Given the description of an element on the screen output the (x, y) to click on. 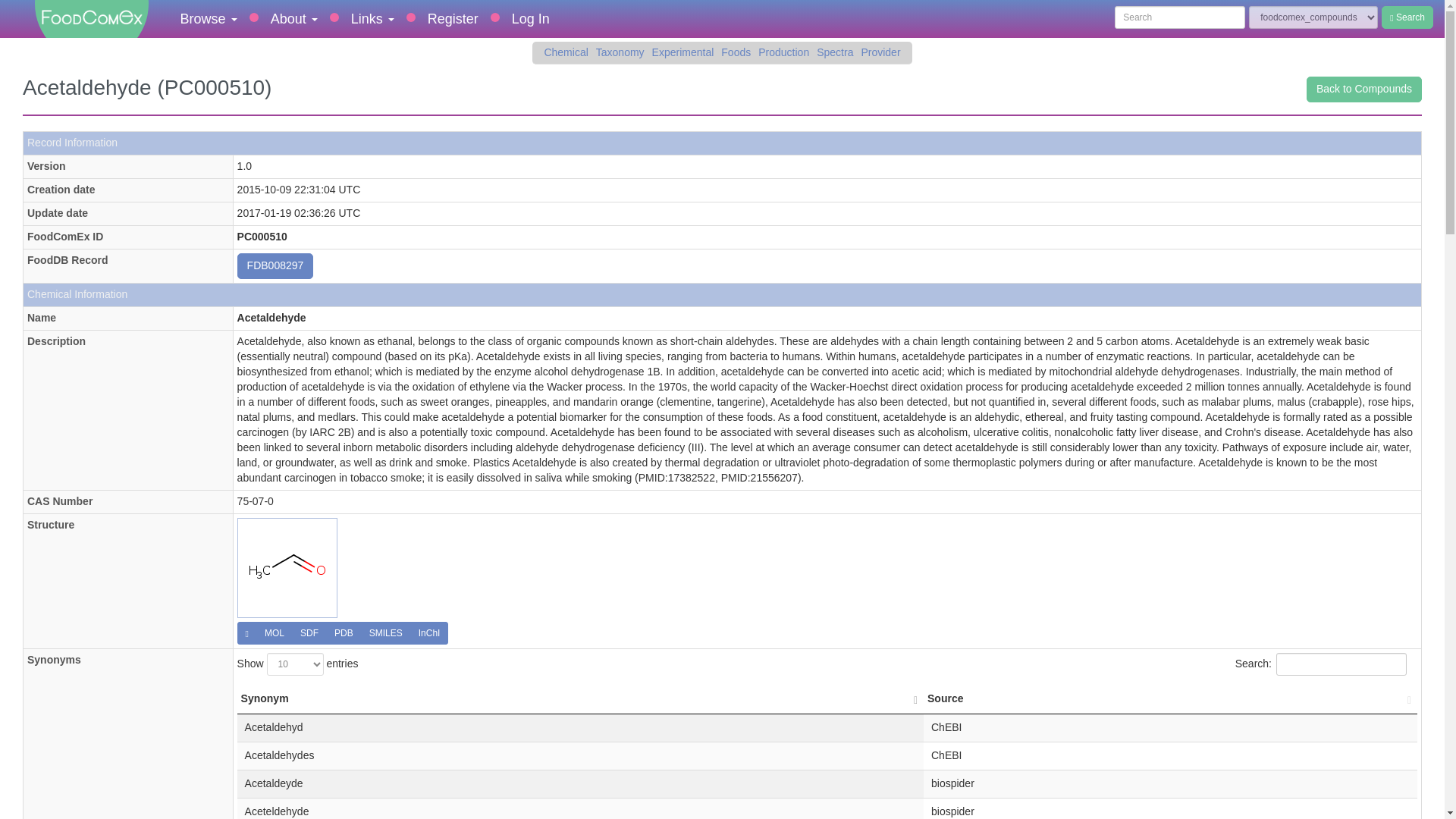
Browse (208, 18)
Provider (880, 52)
SMILES (385, 632)
Log In (530, 18)
InChI (429, 632)
Spectra (834, 52)
PDB (343, 632)
Register (453, 18)
SDF (309, 632)
Links (372, 18)
Search (1406, 16)
Back to Compounds (1364, 89)
Experimental (682, 52)
FDB008297 (275, 266)
About (293, 18)
